Given the description of an element on the screen output the (x, y) to click on. 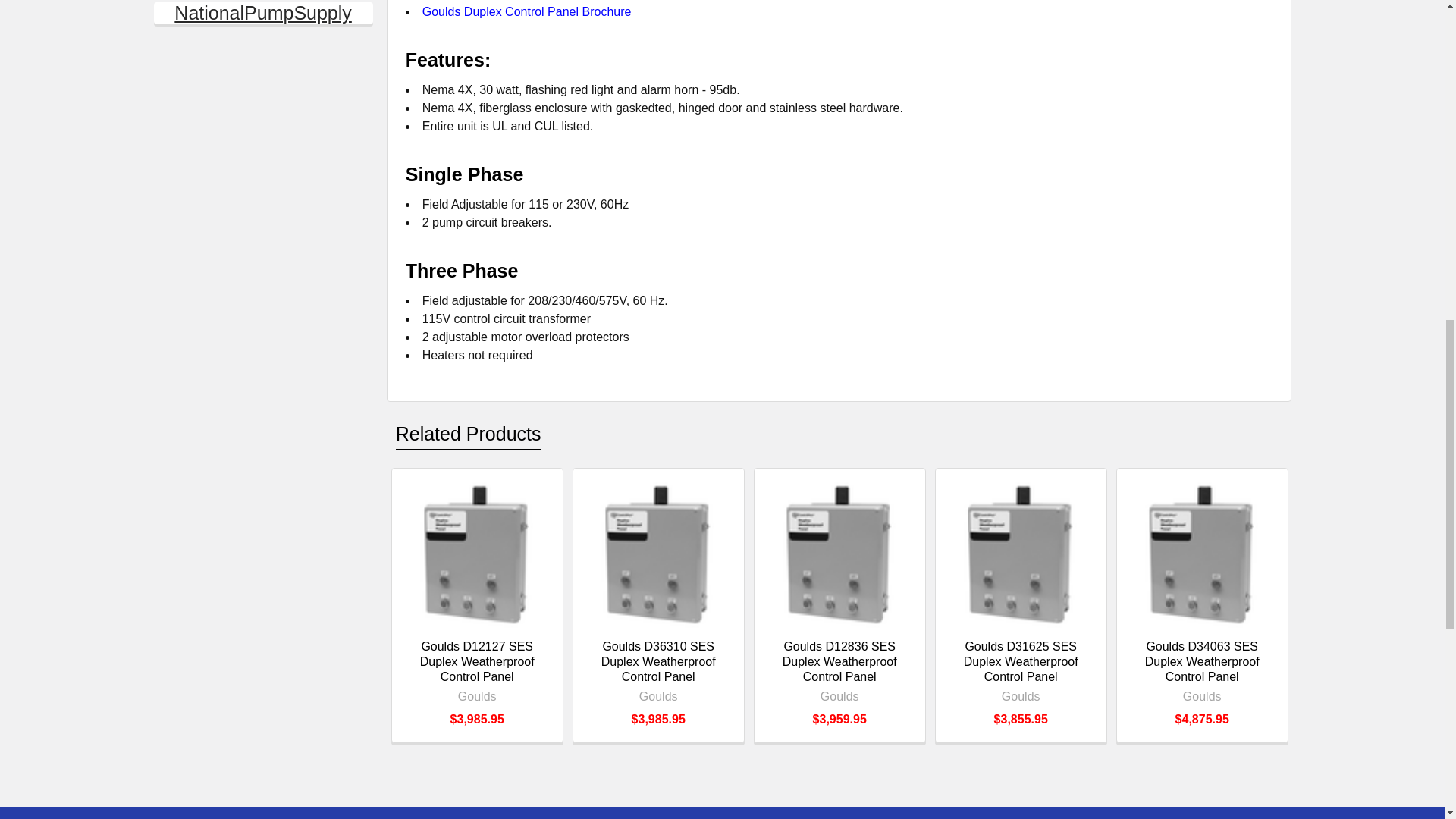
Goulds D31625 SES Duplex Weatherproof Control Panel (1020, 553)
Goulds D36310 SES Duplex Weatherproof Control Panel (658, 553)
Goulds D12836 SES Duplex Weatherproof Control Panel (838, 553)
Goulds D34063 SES Duplex Weatherproof Control Panel (1201, 553)
Goulds D12127 SES Duplex Weatherproof Control Panel (477, 553)
